Given the description of an element on the screen output the (x, y) to click on. 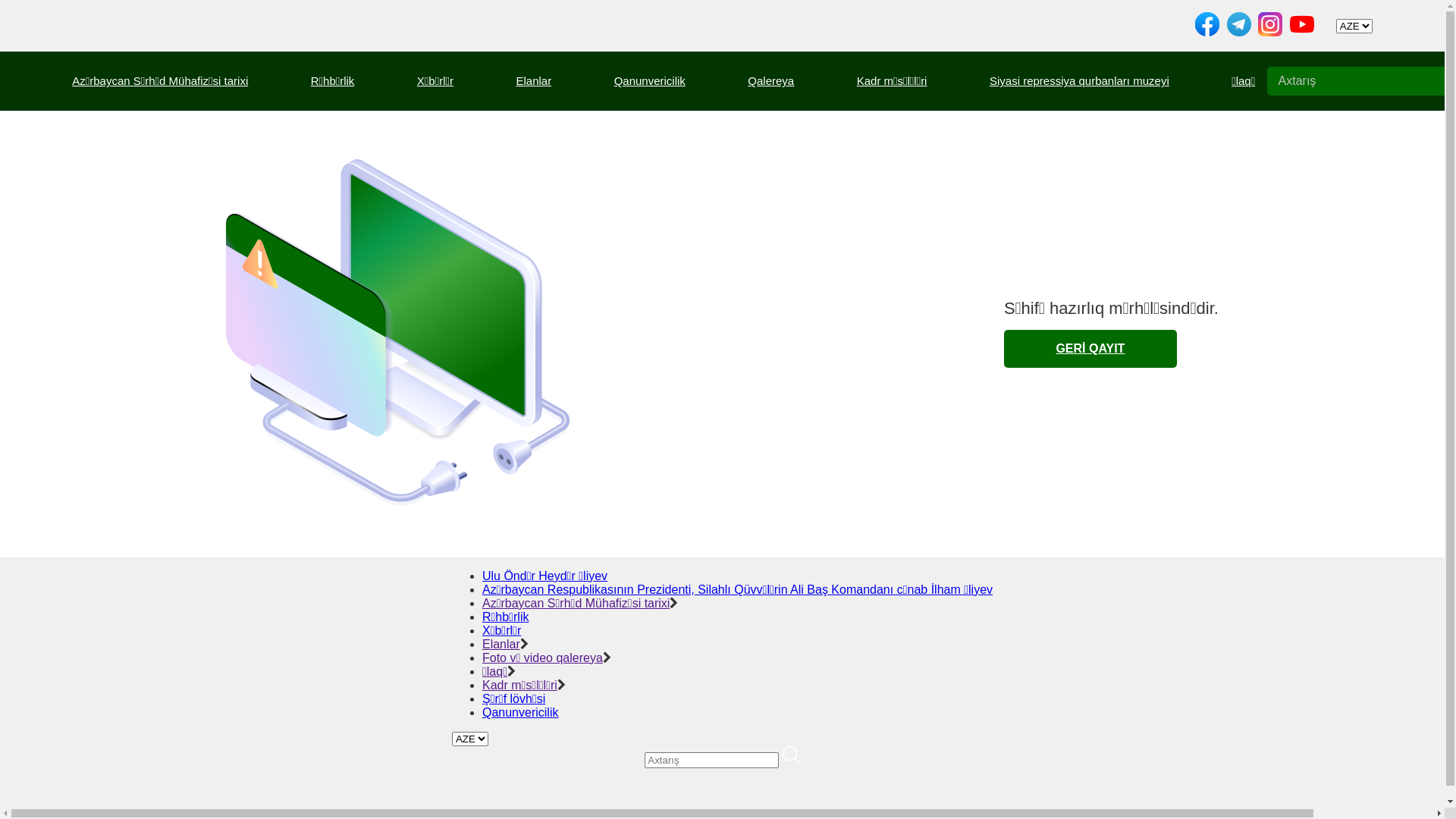
Elanlar Element type: text (533, 80)
Elanlar Element type: text (501, 643)
Qalereya Element type: text (770, 80)
Qanunvericilik Element type: text (649, 80)
Qanunvericilik Element type: text (520, 712)
